Given the description of an element on the screen output the (x, y) to click on. 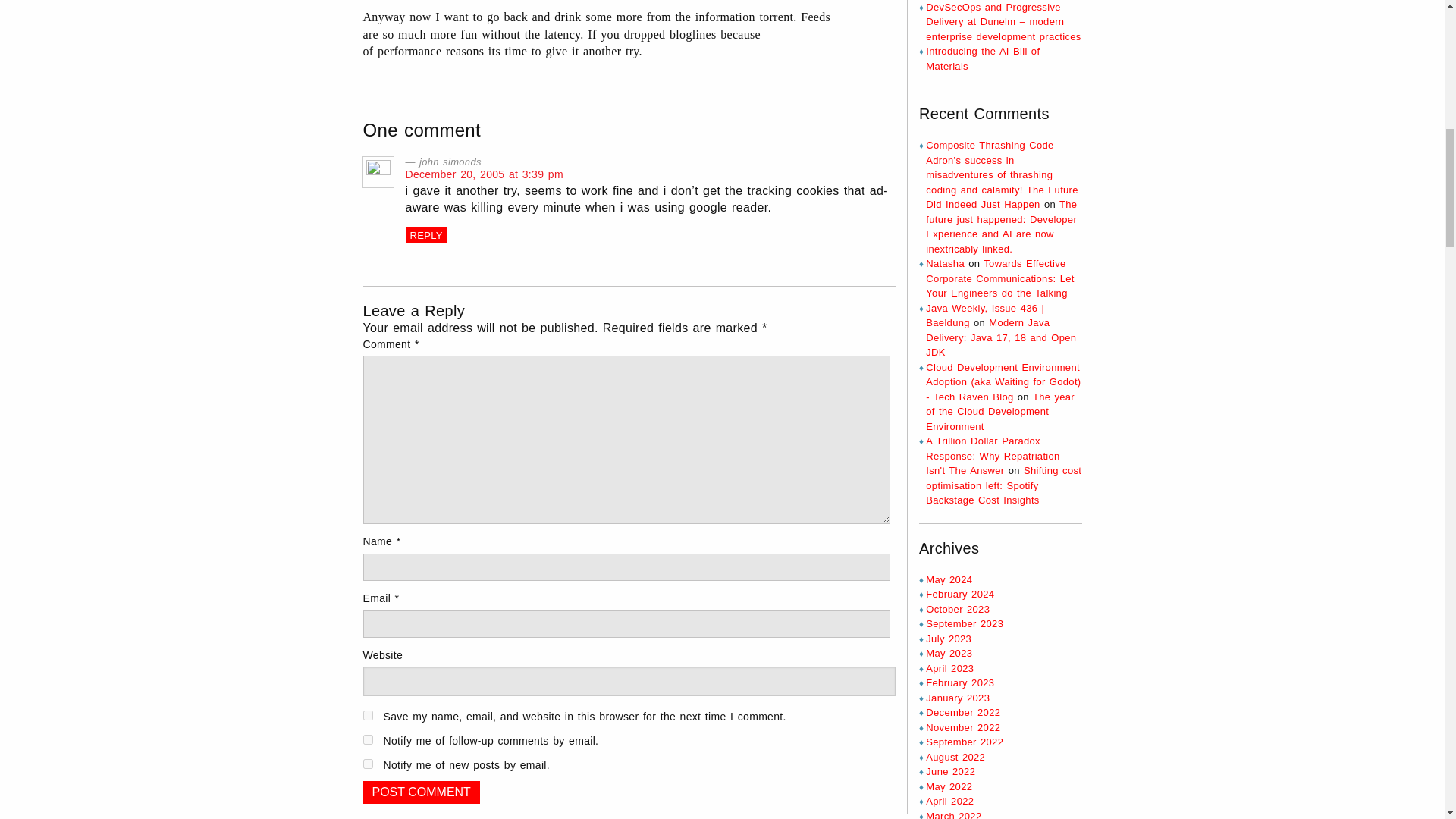
yes (367, 715)
subscribe (367, 739)
Post Comment (420, 792)
December 20, 2005 at 3:39 pm (483, 174)
Post Comment (420, 792)
subscribe (367, 764)
REPLY (425, 235)
